Given the description of an element on the screen output the (x, y) to click on. 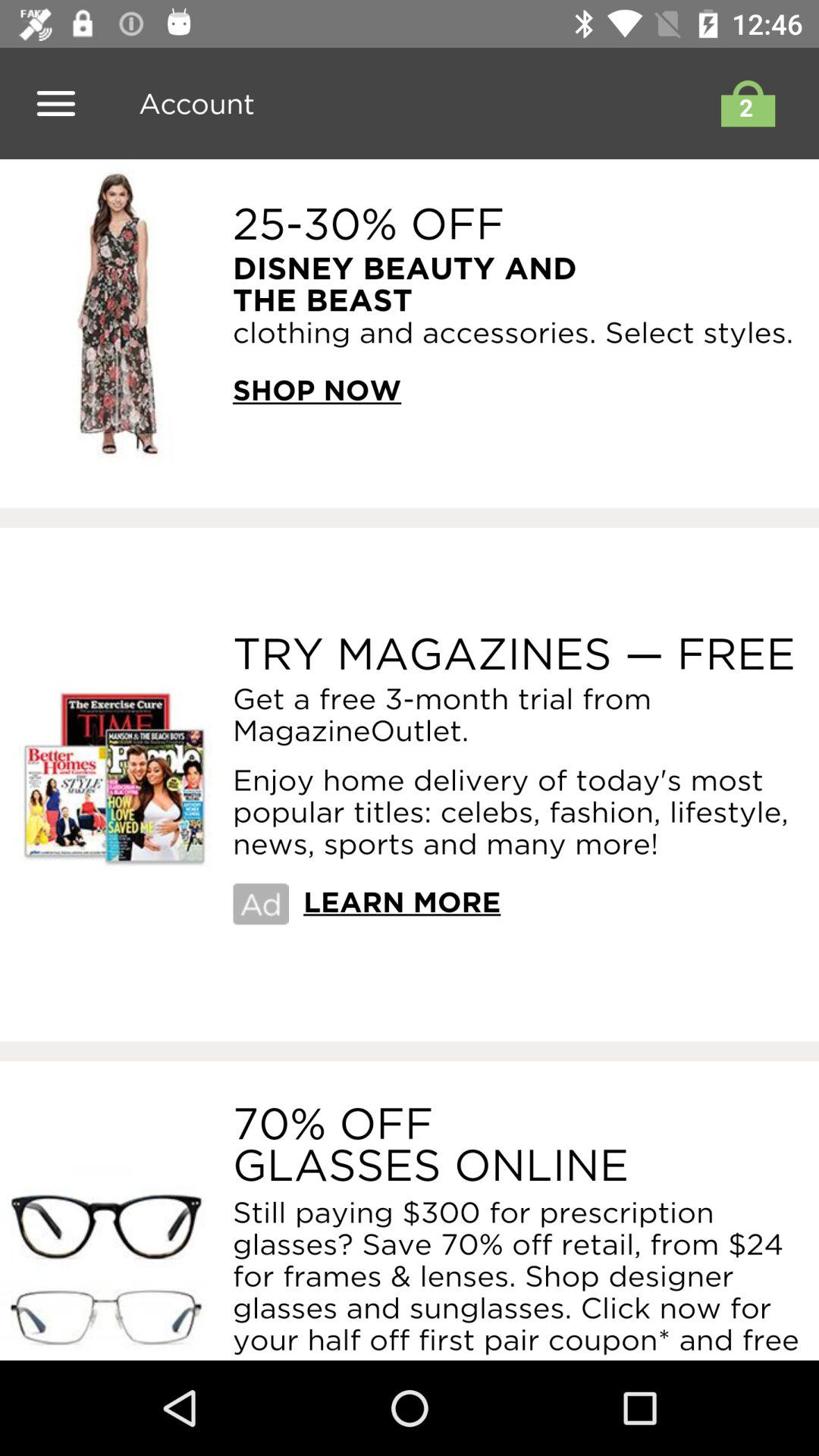
shopping cart (744, 103)
